Given the description of an element on the screen output the (x, y) to click on. 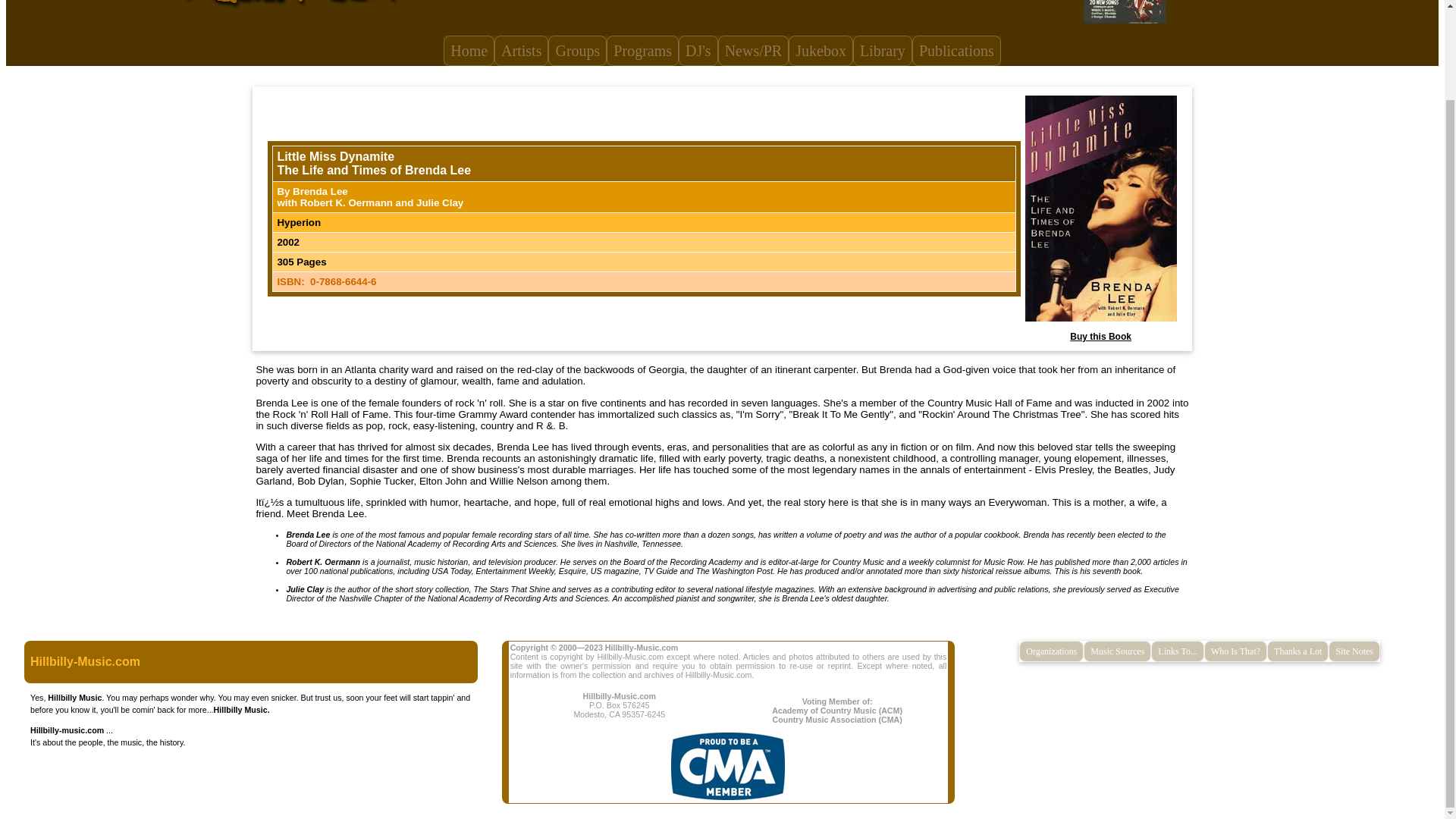
Artists (521, 51)
DJ's (697, 51)
Buy this Book (1100, 336)
Home (469, 51)
Groups (577, 51)
Jukebox (821, 51)
Publications (956, 51)
Music Sources (1117, 650)
Programs (642, 51)
Library (882, 51)
